Given the description of an element on the screen output the (x, y) to click on. 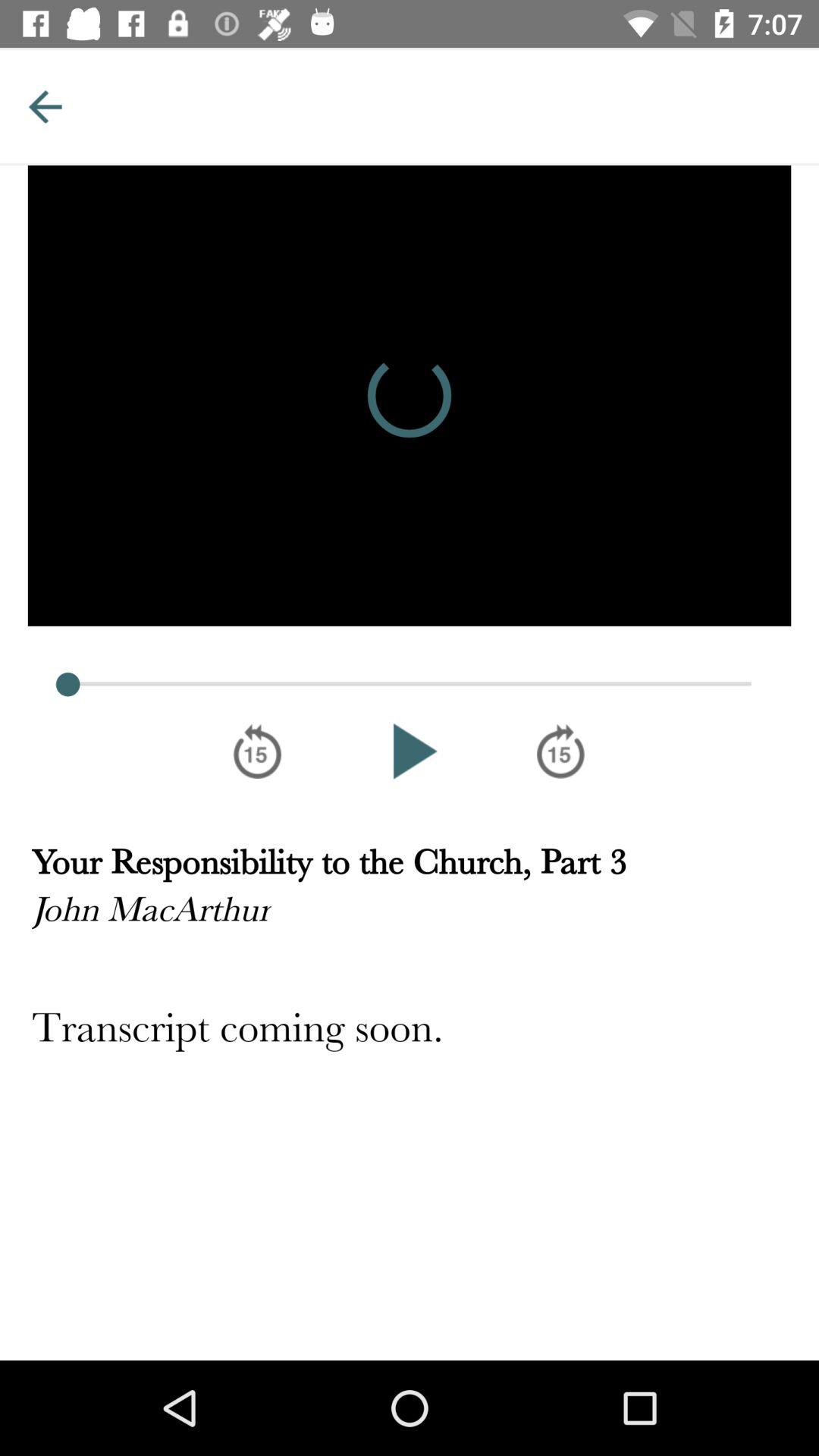
skip forward 15 seconds (560, 751)
